Given the description of an element on the screen output the (x, y) to click on. 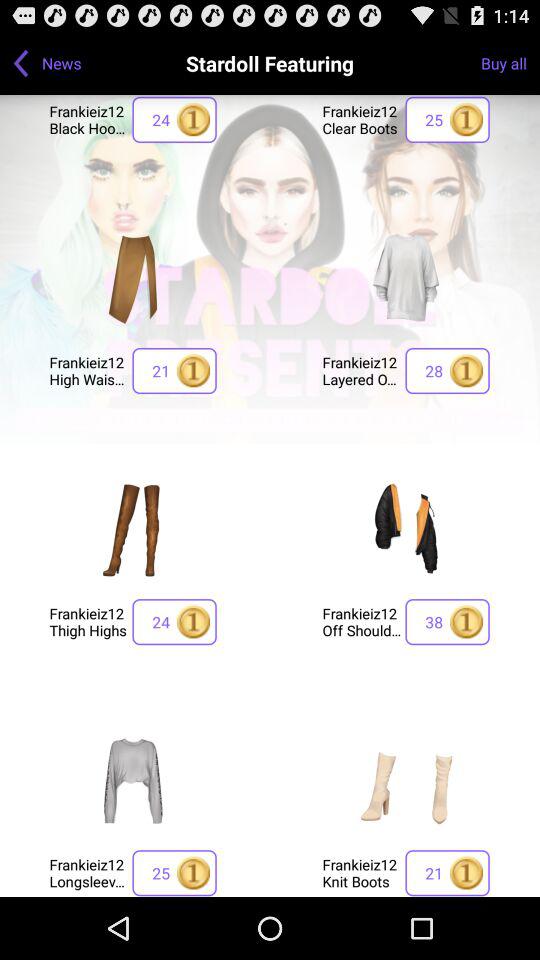
show more pictures (133, 277)
